Given the description of an element on the screen output the (x, y) to click on. 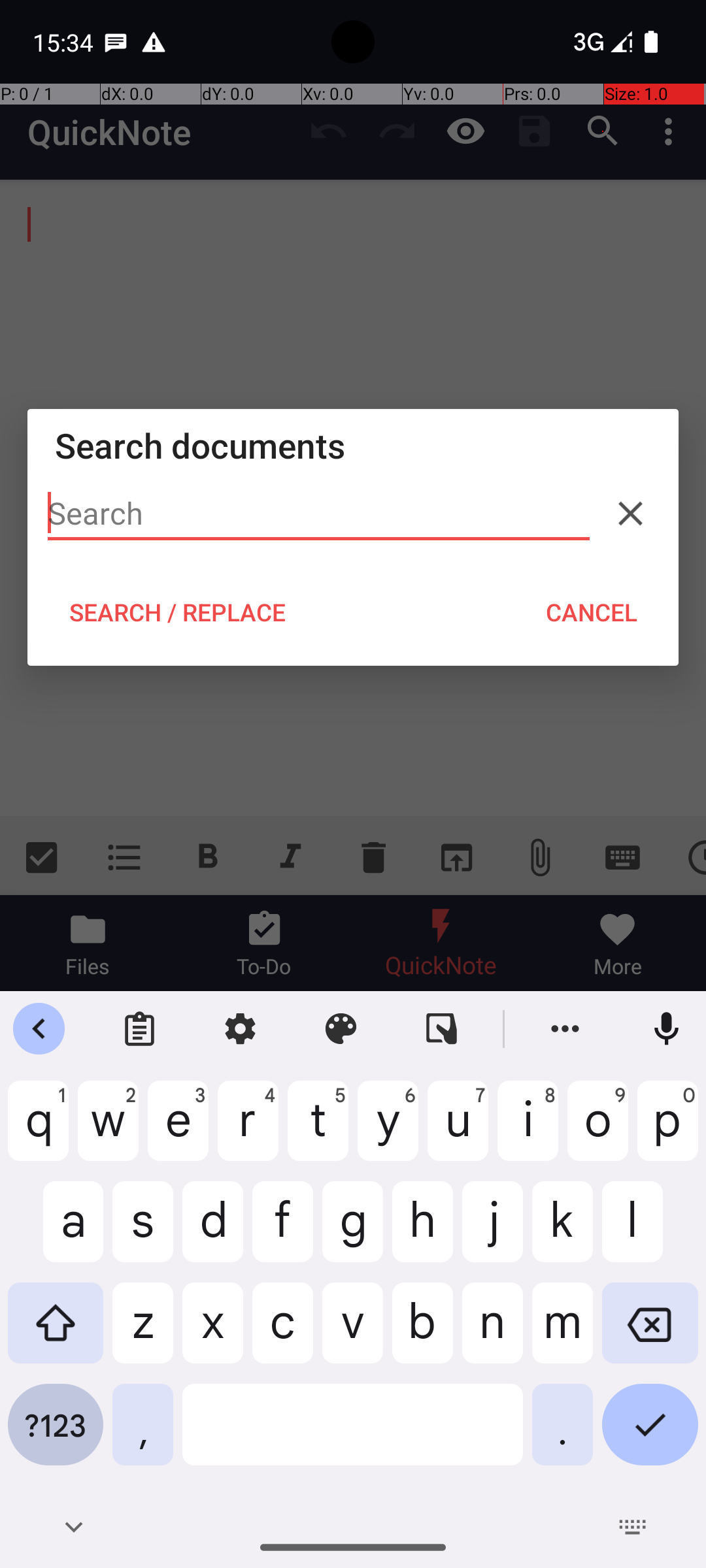
Search documents Element type: android.widget.TextView (352, 445)
SEARCH / REPLACE Element type: android.widget.Button (176, 611)
Theme settings Element type: android.widget.FrameLayout (340, 1028)
One handed mode Element type: android.widget.FrameLayout (441, 1028)
